Given the description of an element on the screen output the (x, y) to click on. 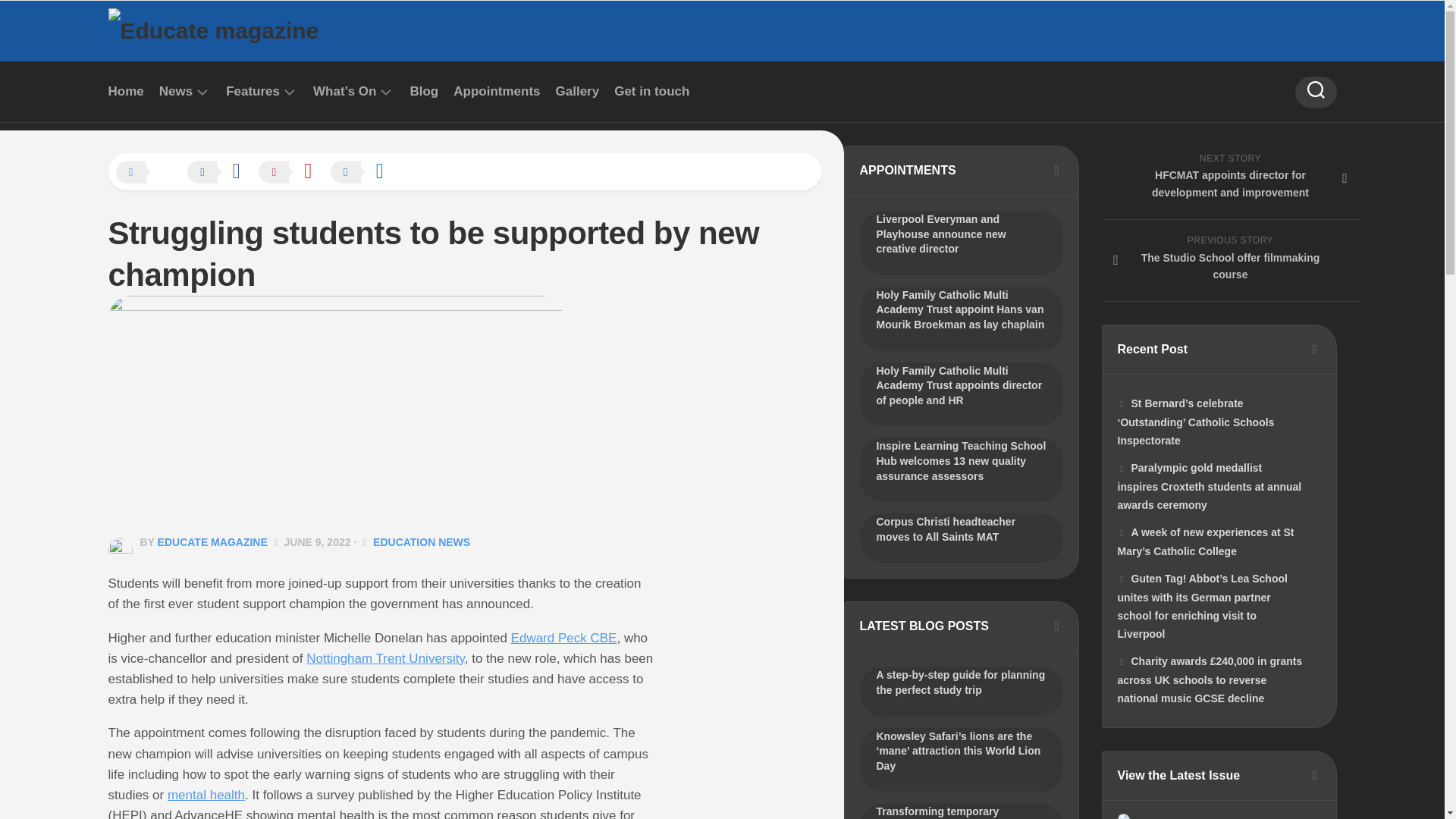
EDUCATION NEWS (421, 541)
Gallery (577, 91)
Share on Pinterest (292, 172)
EDUCATE MAGAZINE (212, 541)
Get in touch (651, 91)
Home (124, 91)
Features (252, 91)
Edward Peck CBE (564, 637)
News (175, 91)
Share on Facebook (221, 172)
